Given the description of an element on the screen output the (x, y) to click on. 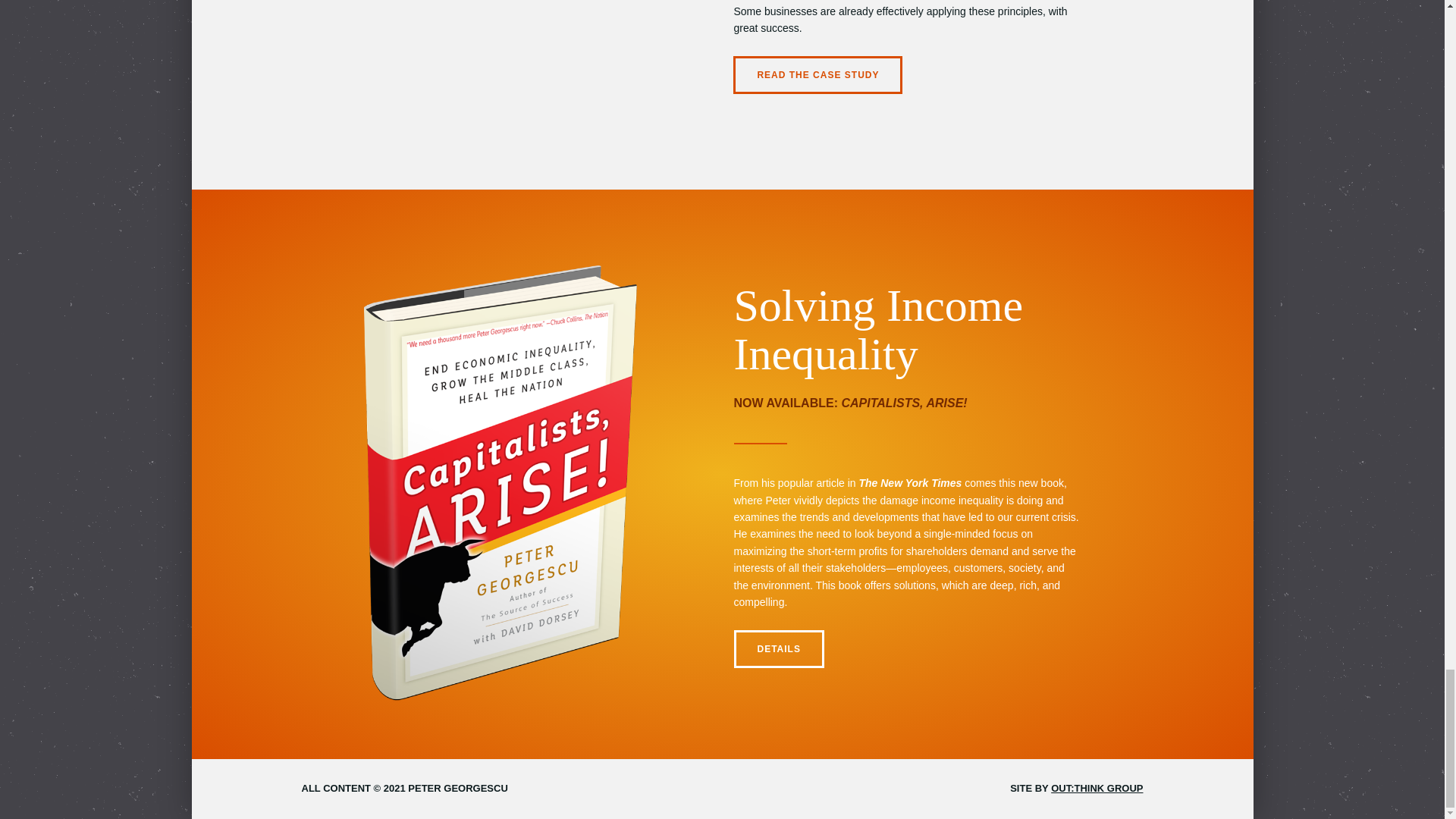
OUT:THINK GROUP (1096, 787)
READ THE CASE STUDY (817, 75)
DETAILS (778, 648)
